Given the description of an element on the screen output the (x, y) to click on. 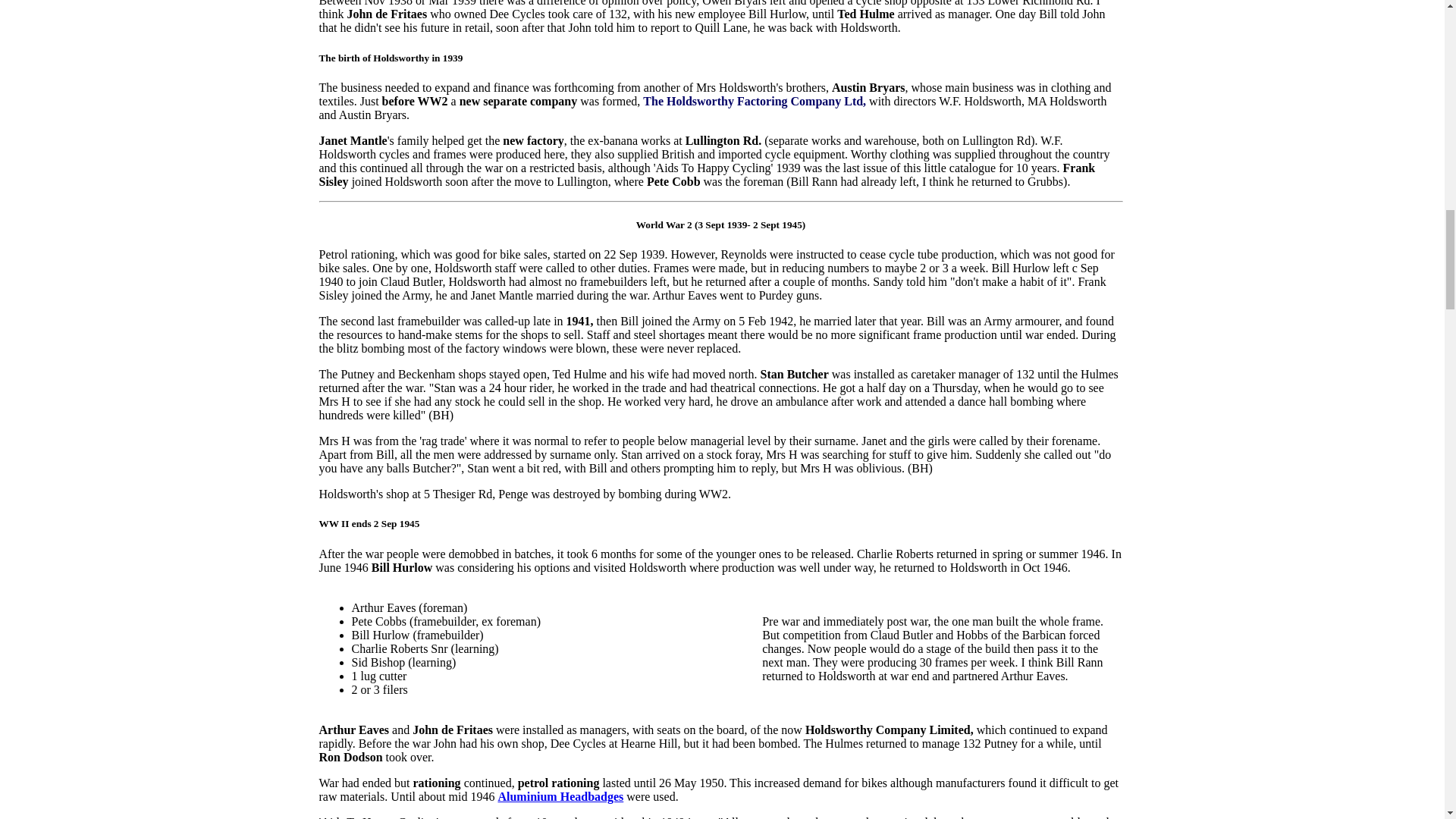
Aluminium Headbadges (560, 796)
